Given the description of an element on the screen output the (x, y) to click on. 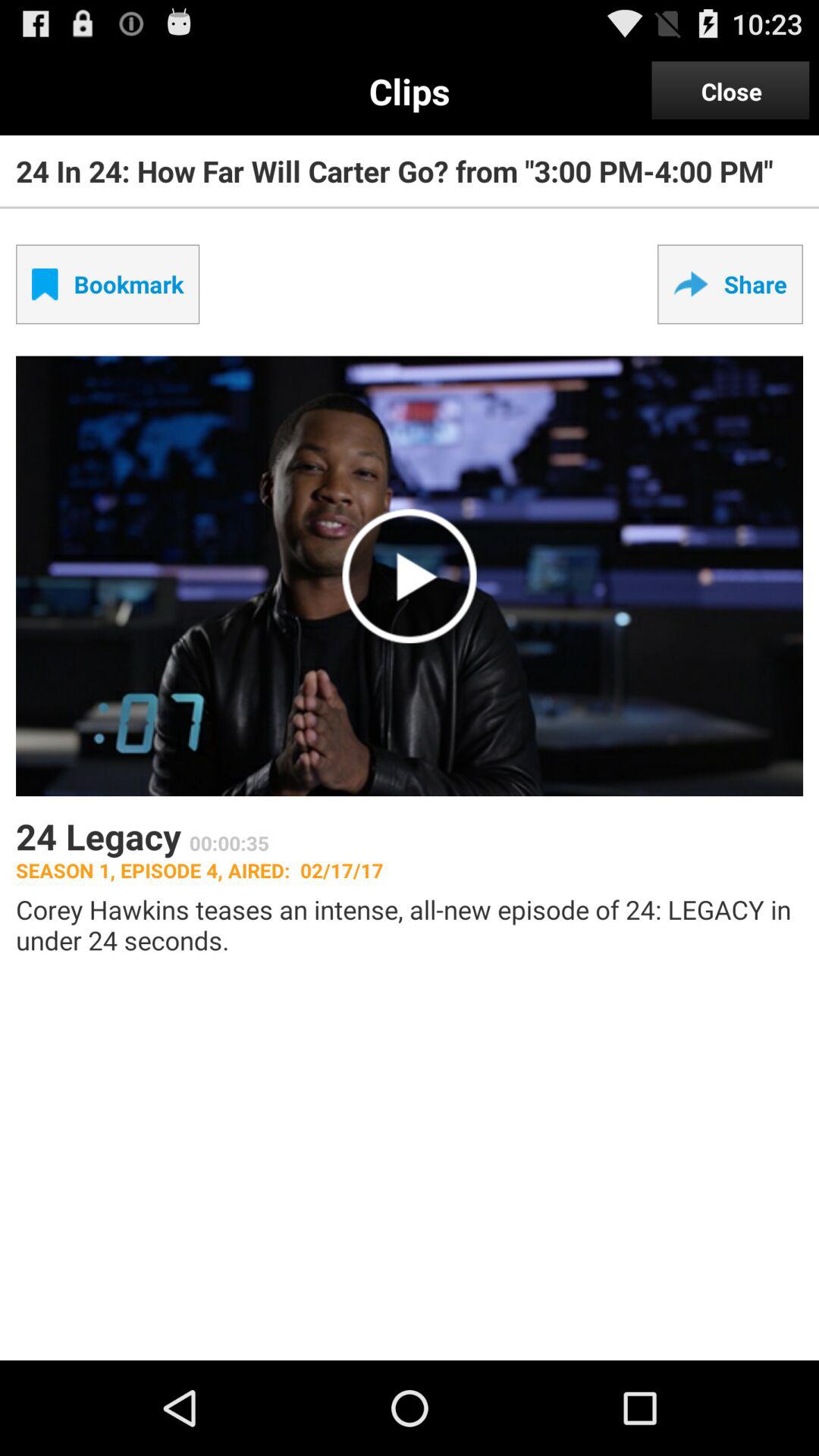
select the bookmark (107, 284)
